Given the description of an element on the screen output the (x, y) to click on. 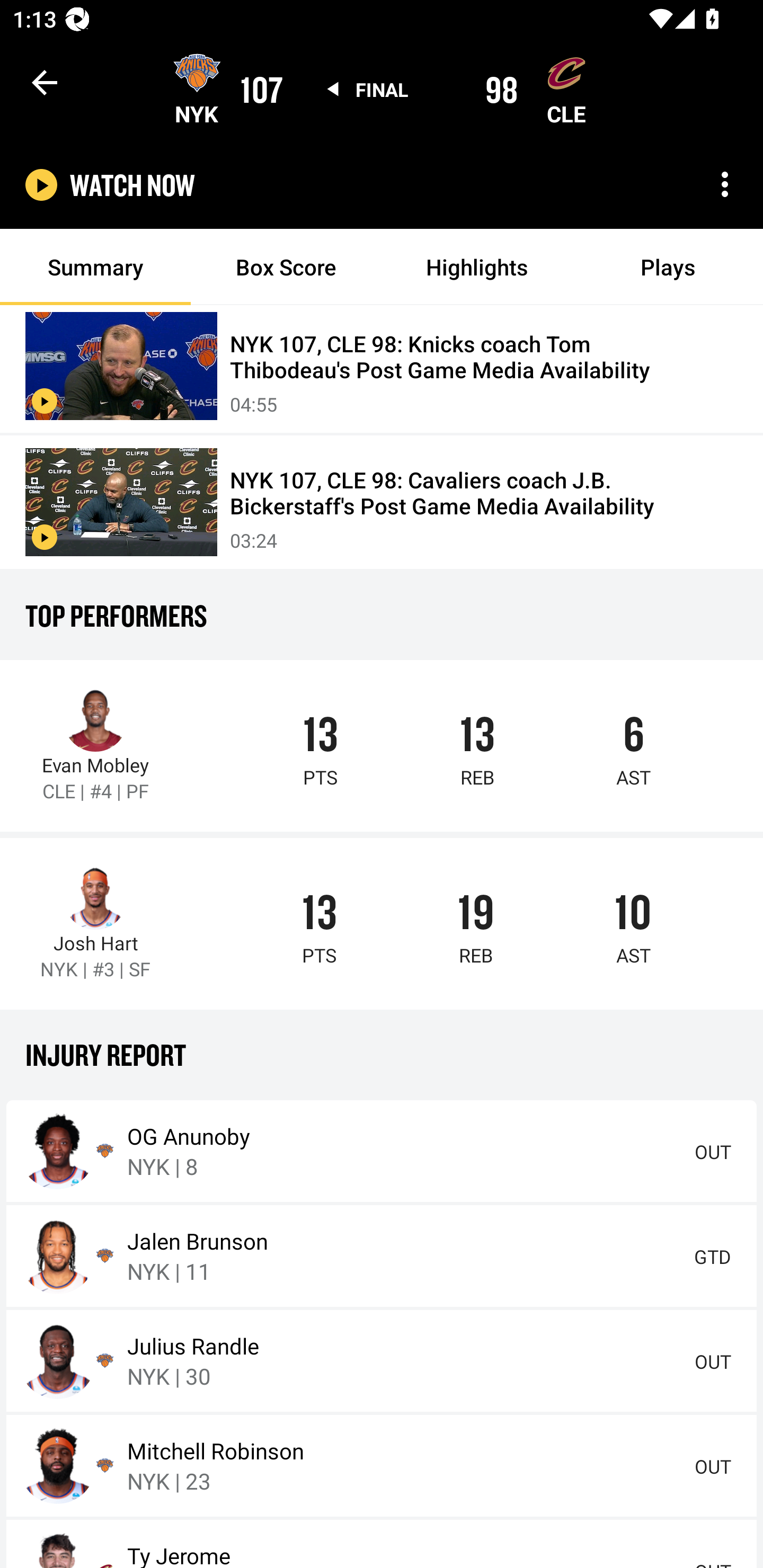
Navigate up (44, 82)
More options (724, 183)
WATCH NOW (132, 184)
Box Score (285, 266)
Highlights (476, 266)
Plays (667, 266)
TOP PERFORMERS (381, 615)
Josh Hart NYK | #3 | SF 13 PTS 19 REB 10 AST (381, 923)
INJURY REPORT (381, 1054)
OG Anunoby NYK | 8 OUT (381, 1151)
Jalen Brunson NYK | 11 GTD (381, 1255)
Julius Randle NYK | 30 OUT (381, 1360)
Mitchell Robinson NYK | 23 OUT (381, 1465)
